Given the description of an element on the screen output the (x, y) to click on. 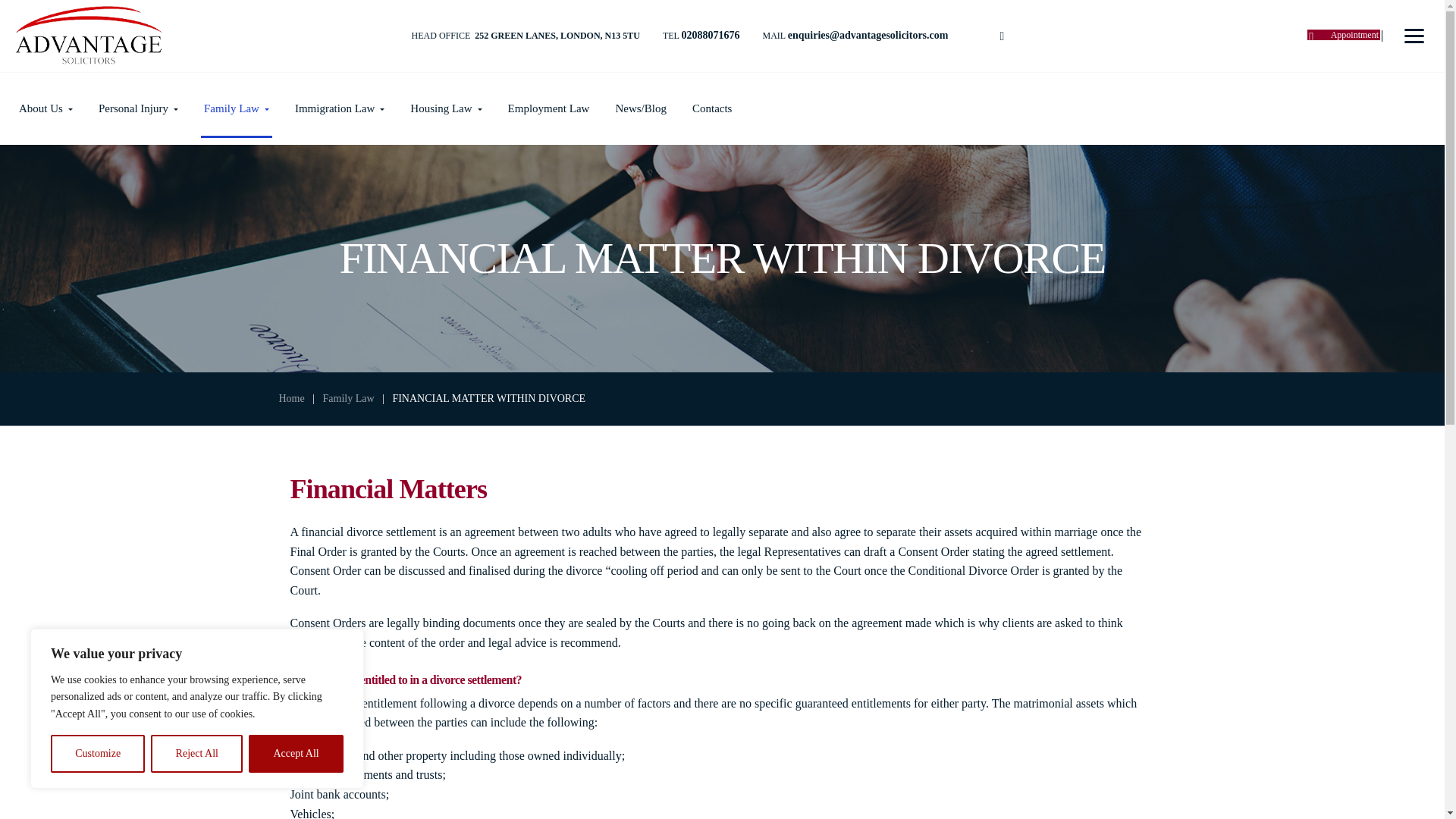
Immigration Law (339, 108)
Family Law (236, 108)
Personal Injury (138, 108)
02088071676 (710, 35)
Reject All (197, 753)
About Us (45, 108)
Customize (97, 753)
Accept All (295, 753)
